Given the description of an element on the screen output the (x, y) to click on. 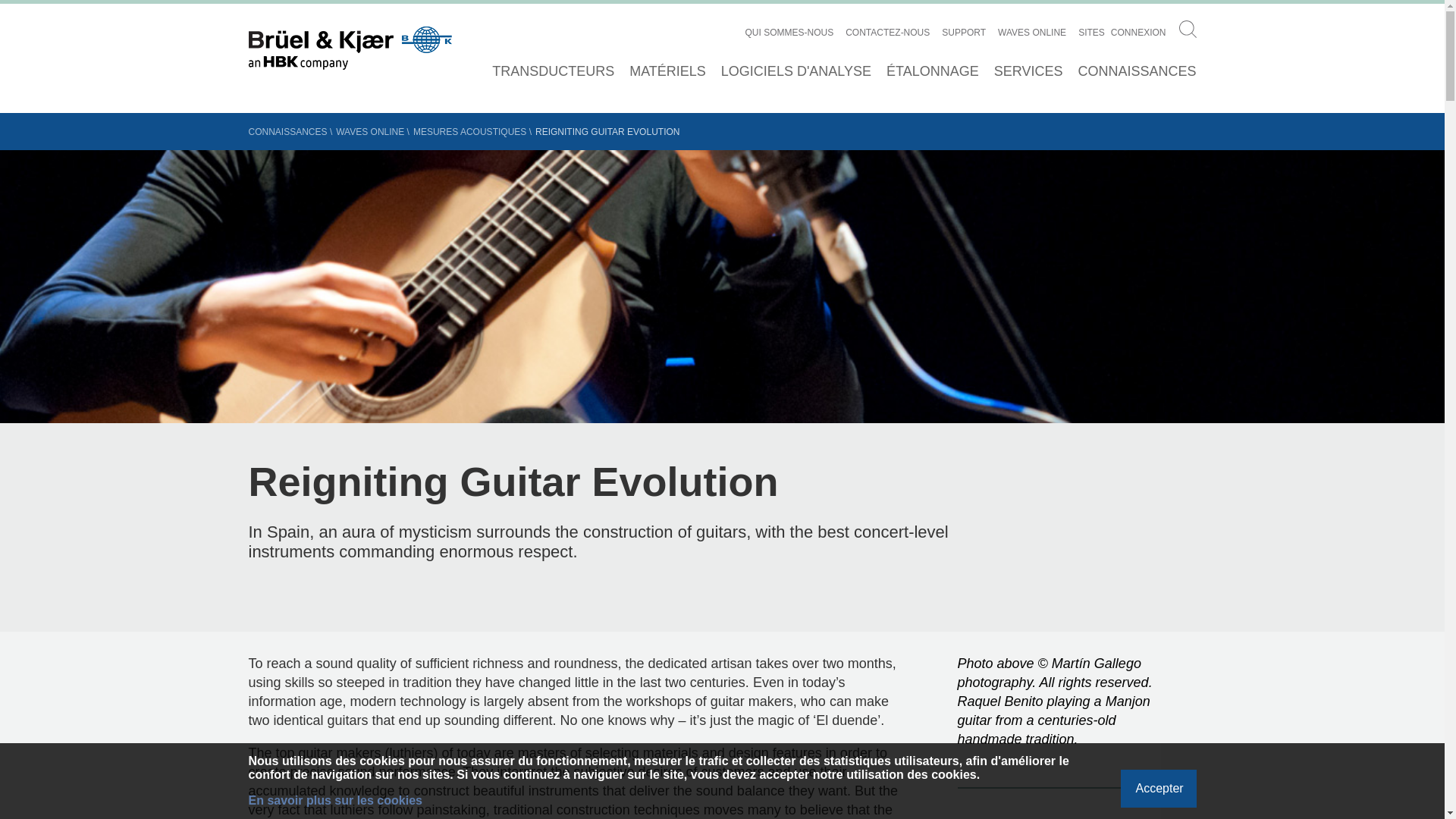
CONTACTEZ-NOUS (887, 32)
TRANSDUCTEURS (553, 71)
SITES (1091, 32)
SUPPORT (963, 32)
QUI SOMMES-NOUS (789, 32)
CONNEXION (1138, 32)
WAVES ONLINE (1031, 32)
